Given the description of an element on the screen output the (x, y) to click on. 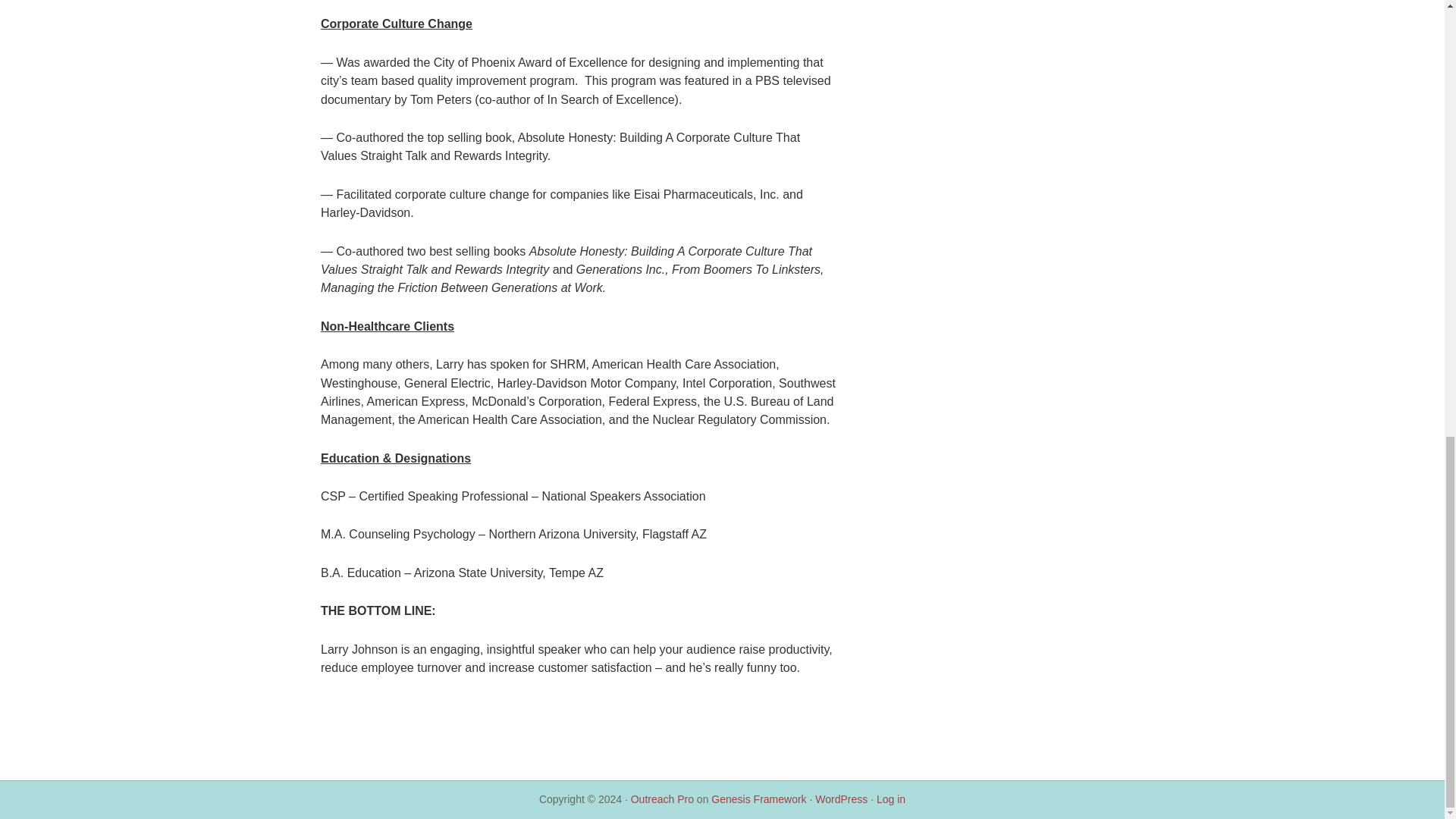
WordPress (841, 799)
Outreach Pro (662, 799)
Genesis Framework (758, 799)
Log in (890, 799)
